Given the description of an element on the screen output the (x, y) to click on. 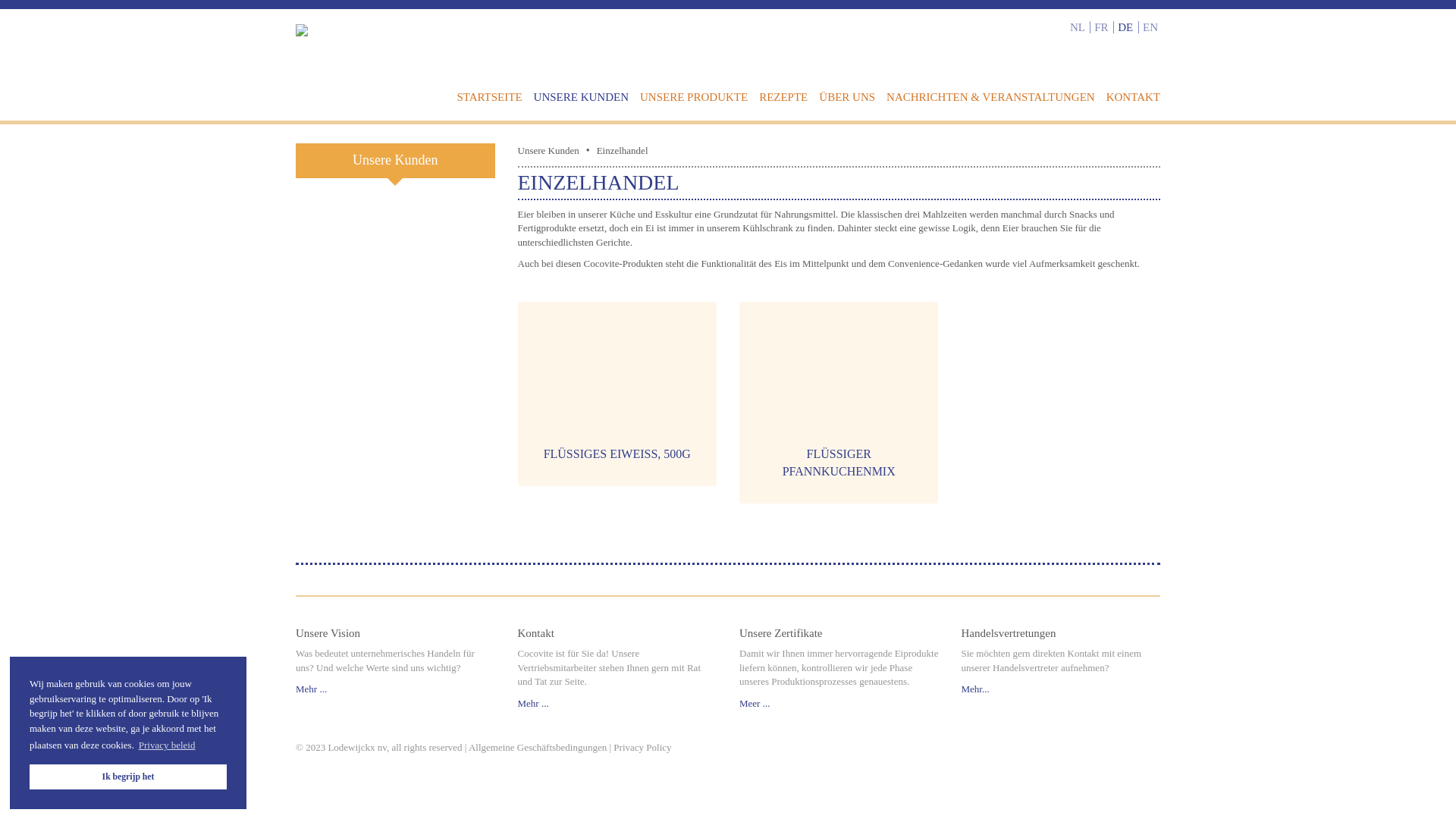
DE Element type: text (1126, 27)
NACHRICHTEN & VERANSTALTUNGEN Element type: text (992, 96)
Unsere Kunden Element type: text (395, 160)
STARTSEITE Element type: text (490, 96)
Mehr ... Element type: text (532, 703)
EN Element type: text (1149, 27)
Unsere Kunden Element type: text (547, 151)
UNSERE PRODUKTE Element type: text (695, 96)
Privacy Policy Element type: text (642, 747)
FR Element type: text (1102, 27)
Privacy beleid Element type: text (166, 744)
UNSERE KUNDEN Element type: text (582, 96)
NL Element type: text (1078, 27)
Mehr... Element type: text (975, 688)
KONTAKT Element type: text (1133, 96)
Mehr ... Element type: text (310, 688)
Meer ... Element type: text (754, 703)
REZEPTE Element type: text (785, 96)
Ik begrijp het Element type: text (127, 776)
Einzelhandel Element type: text (622, 151)
